Given the description of an element on the screen output the (x, y) to click on. 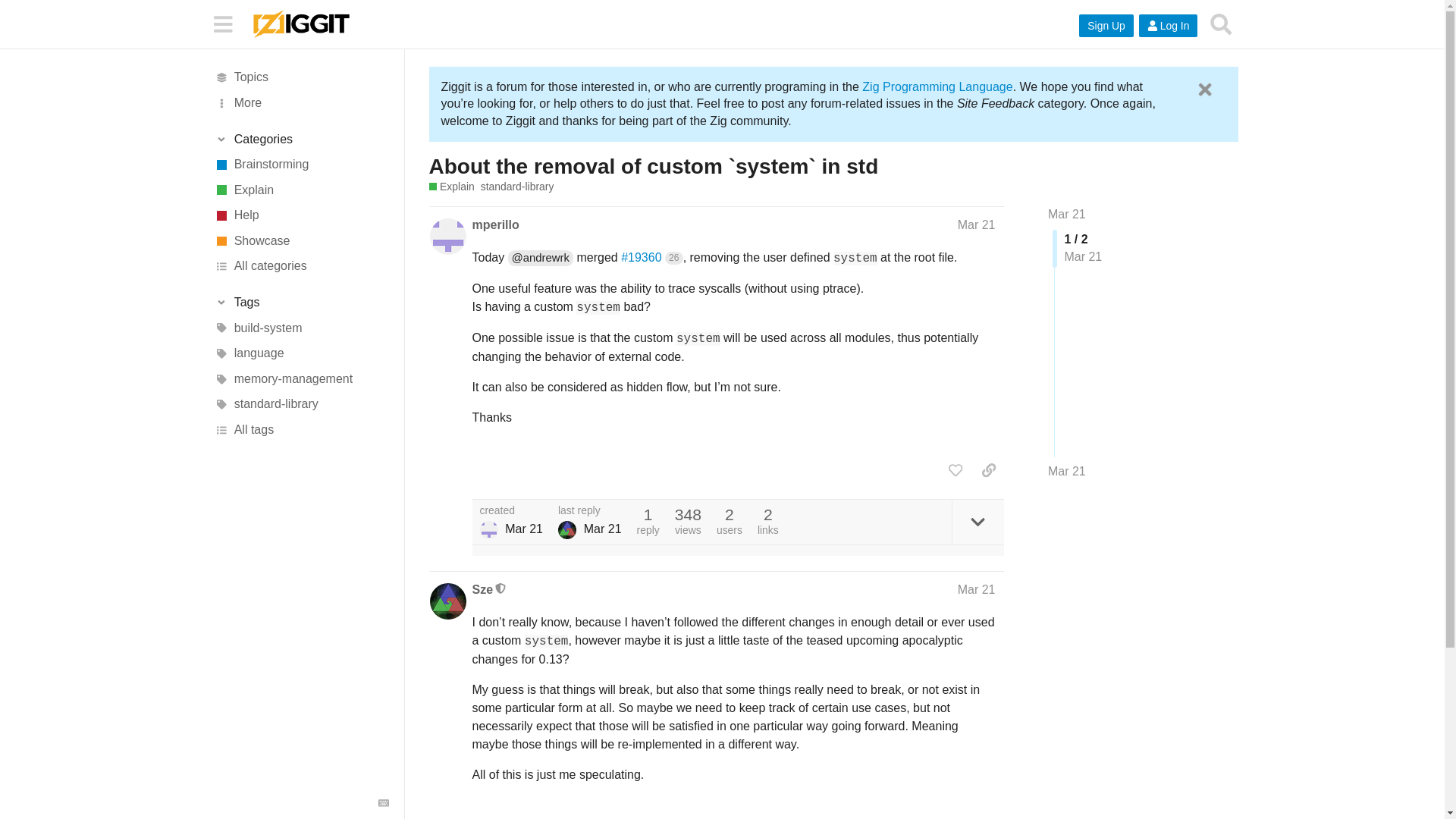
Jump to the first post (1067, 214)
language (301, 353)
Keyboard Shortcuts (384, 802)
All categories (301, 266)
Showcase (301, 240)
All topics (301, 77)
Zig Programming Language (936, 86)
memory-management (301, 379)
Sidebar (222, 23)
Mar 21 (1067, 214)
Help (301, 216)
Explain (301, 190)
Sign Up (1105, 25)
Toggle section (301, 139)
